Given the description of an element on the screen output the (x, y) to click on. 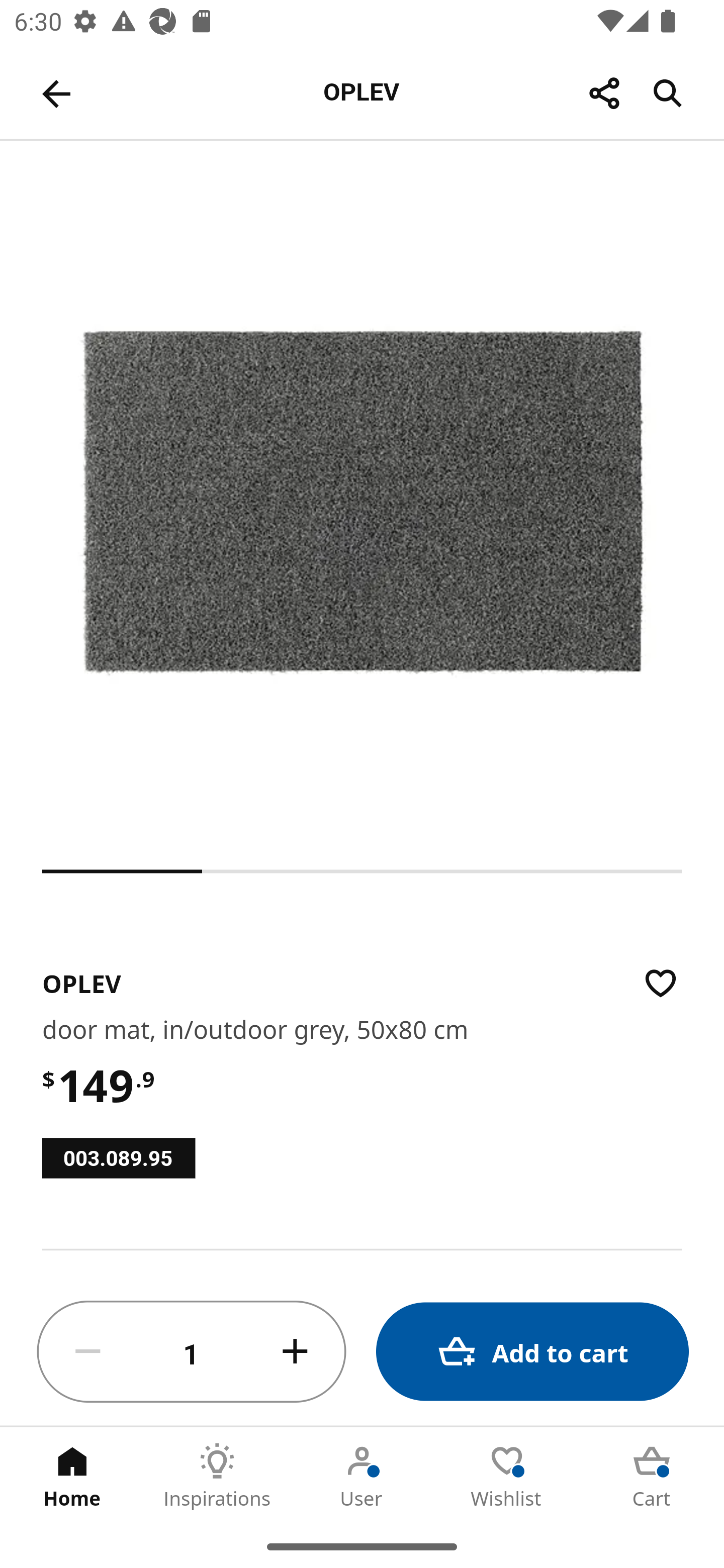
Add to cart (531, 1352)
1 (191, 1352)
Home
Tab 1 of 5 (72, 1476)
Inspirations
Tab 2 of 5 (216, 1476)
User
Tab 3 of 5 (361, 1476)
Wishlist
Tab 4 of 5 (506, 1476)
Cart
Tab 5 of 5 (651, 1476)
